Given the description of an element on the screen output the (x, y) to click on. 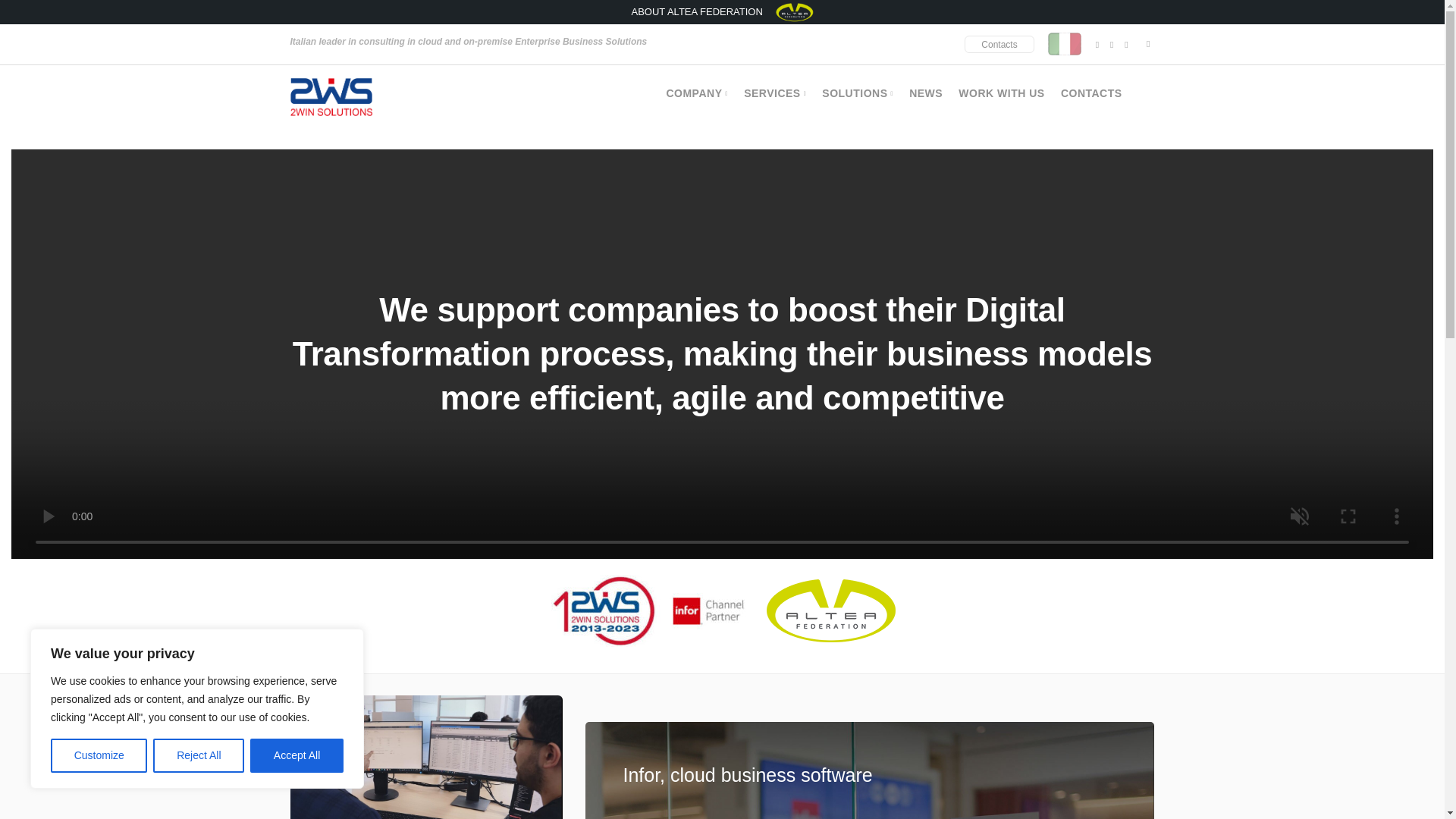
Customize (98, 755)
Accept All (296, 755)
NEWS (925, 92)
ABOUT ALTEA FEDERATION (721, 11)
ITA (1064, 43)
Reject All (198, 755)
Contacts (999, 44)
